Given the description of an element on the screen output the (x, y) to click on. 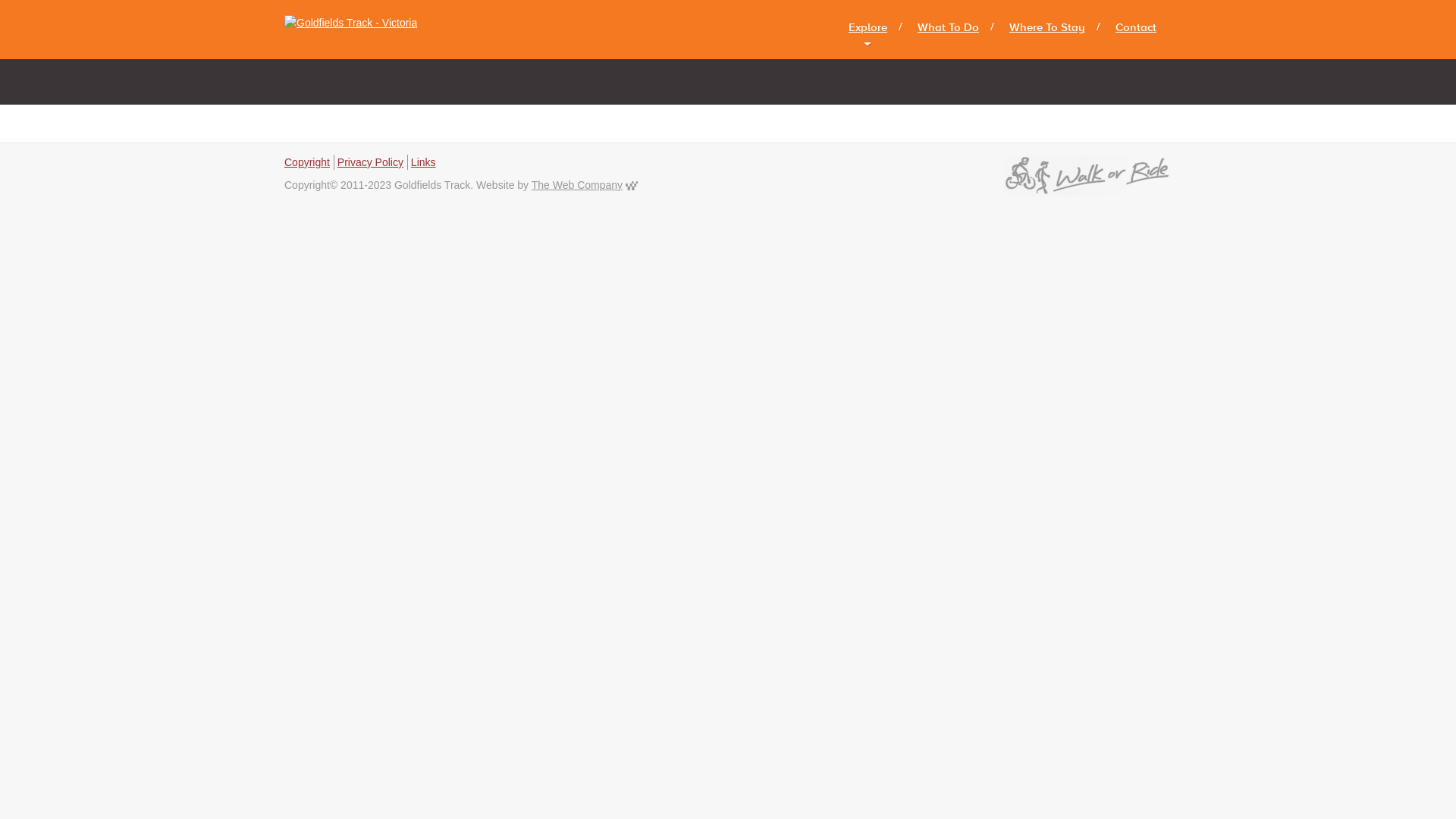
What To Do Element type: text (948, 27)
Links Element type: text (423, 162)
Goldfields Track Element type: hover (356, 29)
Contact Element type: text (1135, 27)
Where To Stay Element type: text (1047, 27)
The Web Company Element type: text (576, 184)
The Web Company Element type: hover (631, 184)
Privacy Policy Element type: text (370, 162)
Copyright Element type: text (306, 162)
Explore Element type: text (867, 27)
